Given the description of an element on the screen output the (x, y) to click on. 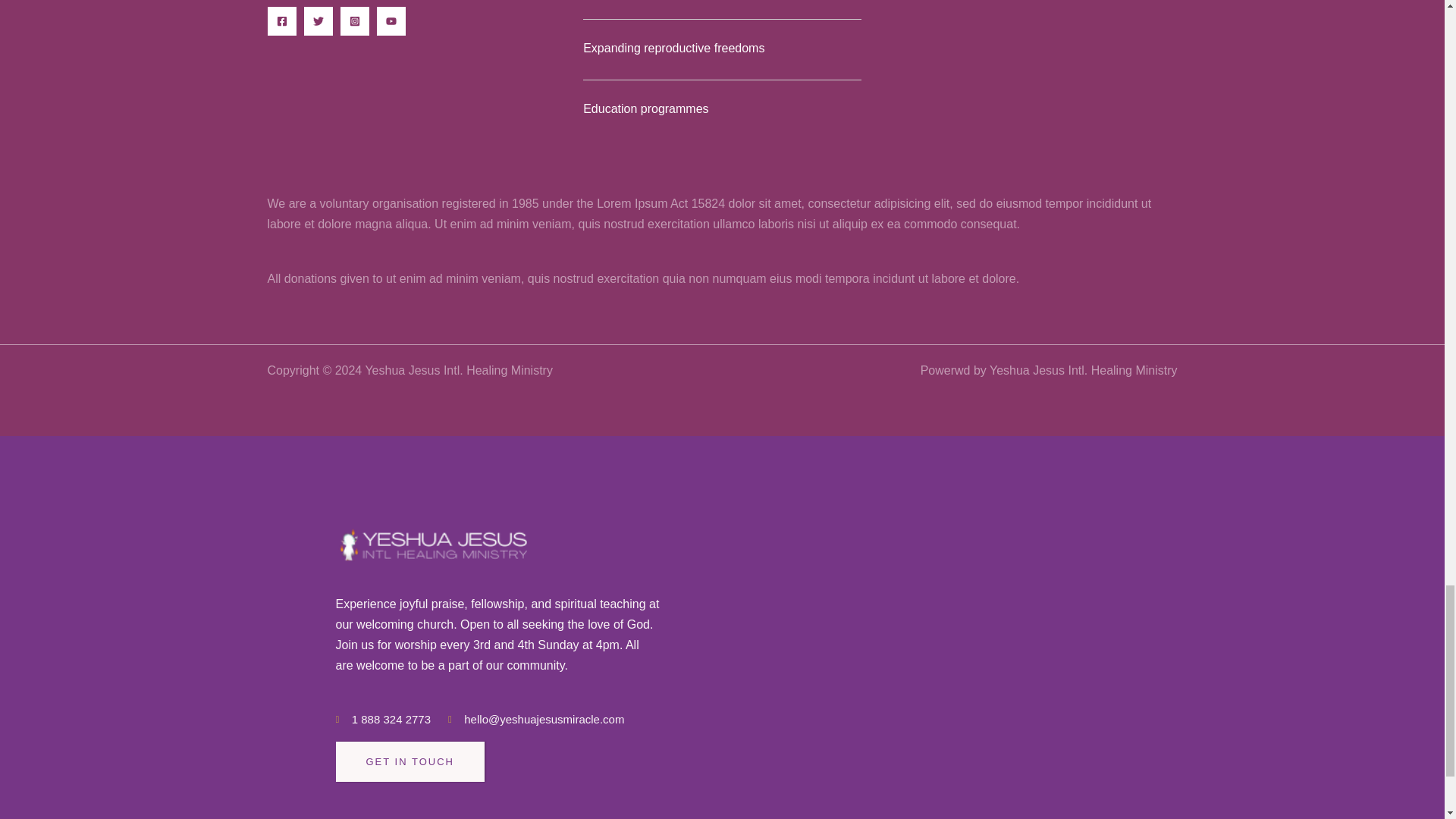
1 888 324 2773 (382, 719)
GET IN TOUCH (408, 762)
30 Main St, Brampton,ON (937, 646)
